Given the description of an element on the screen output the (x, y) to click on. 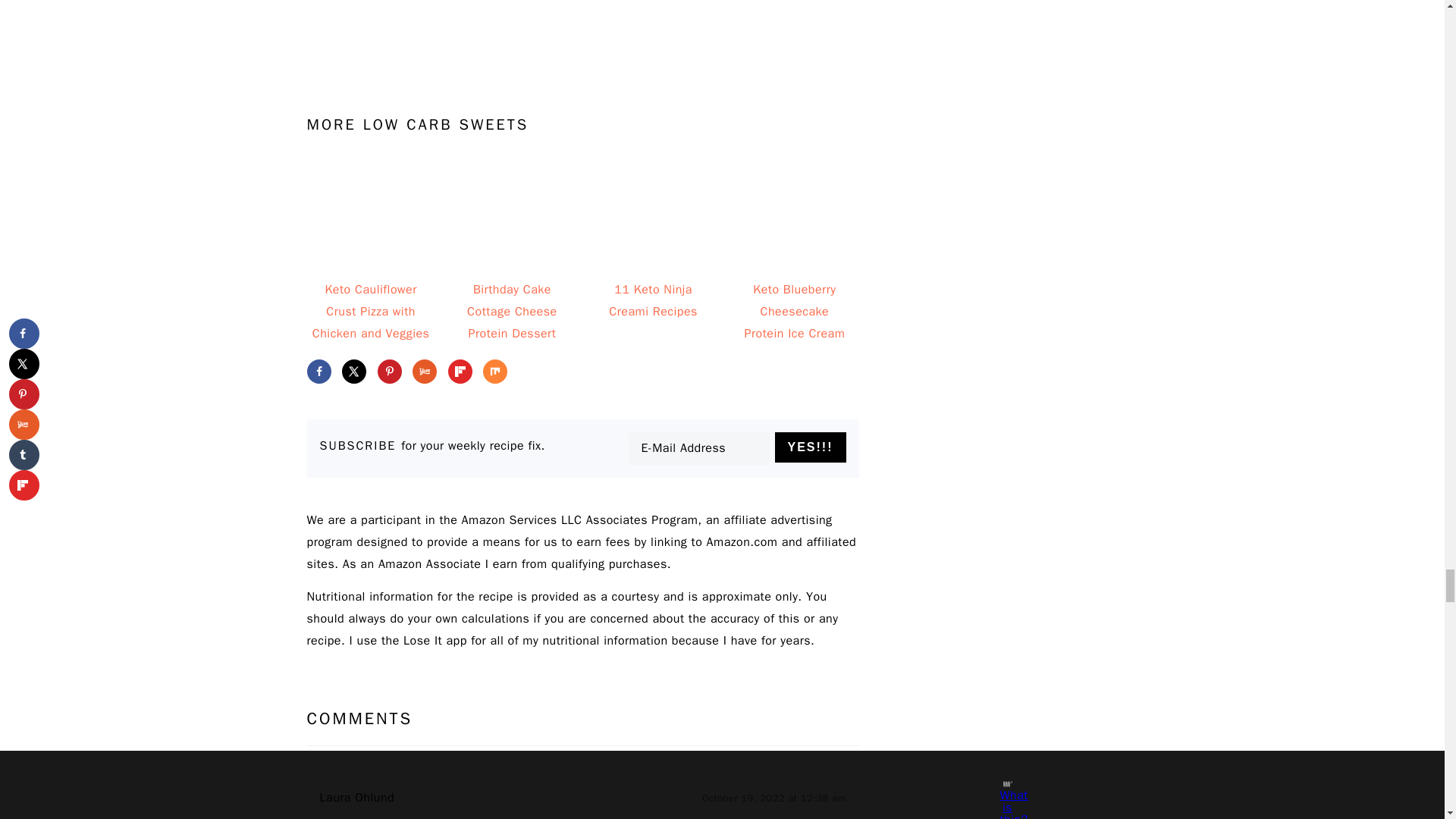
Save to Pinterest (389, 371)
Share on Facebook (317, 371)
Yes!!! (809, 447)
Share on Yummly (424, 371)
Share on X (354, 371)
Share on Mix (494, 371)
Share on Flipboard (459, 371)
